Given the description of an element on the screen output the (x, y) to click on. 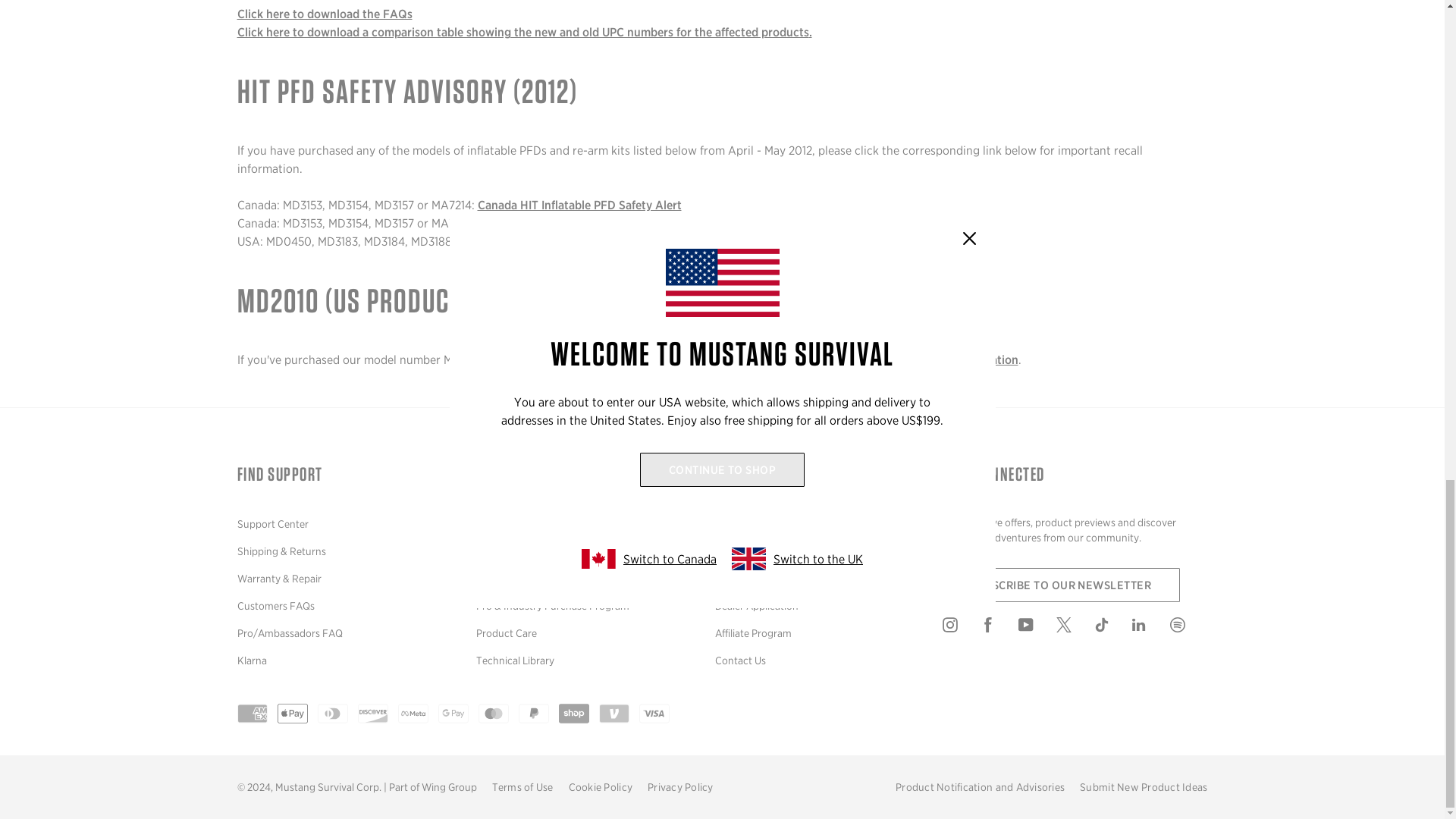
Google Pay (453, 713)
Mustang Survival USA on Facebook (998, 627)
Mustang Survival USA on Spotify (1188, 627)
Mustang Survival USA on TikTok (1112, 627)
Apple Pay (292, 713)
Mustang Survival USA on Twitter (1074, 627)
Mustang Survival USA on Instagram (960, 627)
Mastercard (492, 713)
Mustang Survival USA on YouTube (1036, 627)
Discover (373, 713)
Meta Pay (412, 713)
PayPal (533, 713)
Diners Club (332, 713)
Mustang Survival USA on Linkedin (1150, 627)
American Express (250, 713)
